Given the description of an element on the screen output the (x, y) to click on. 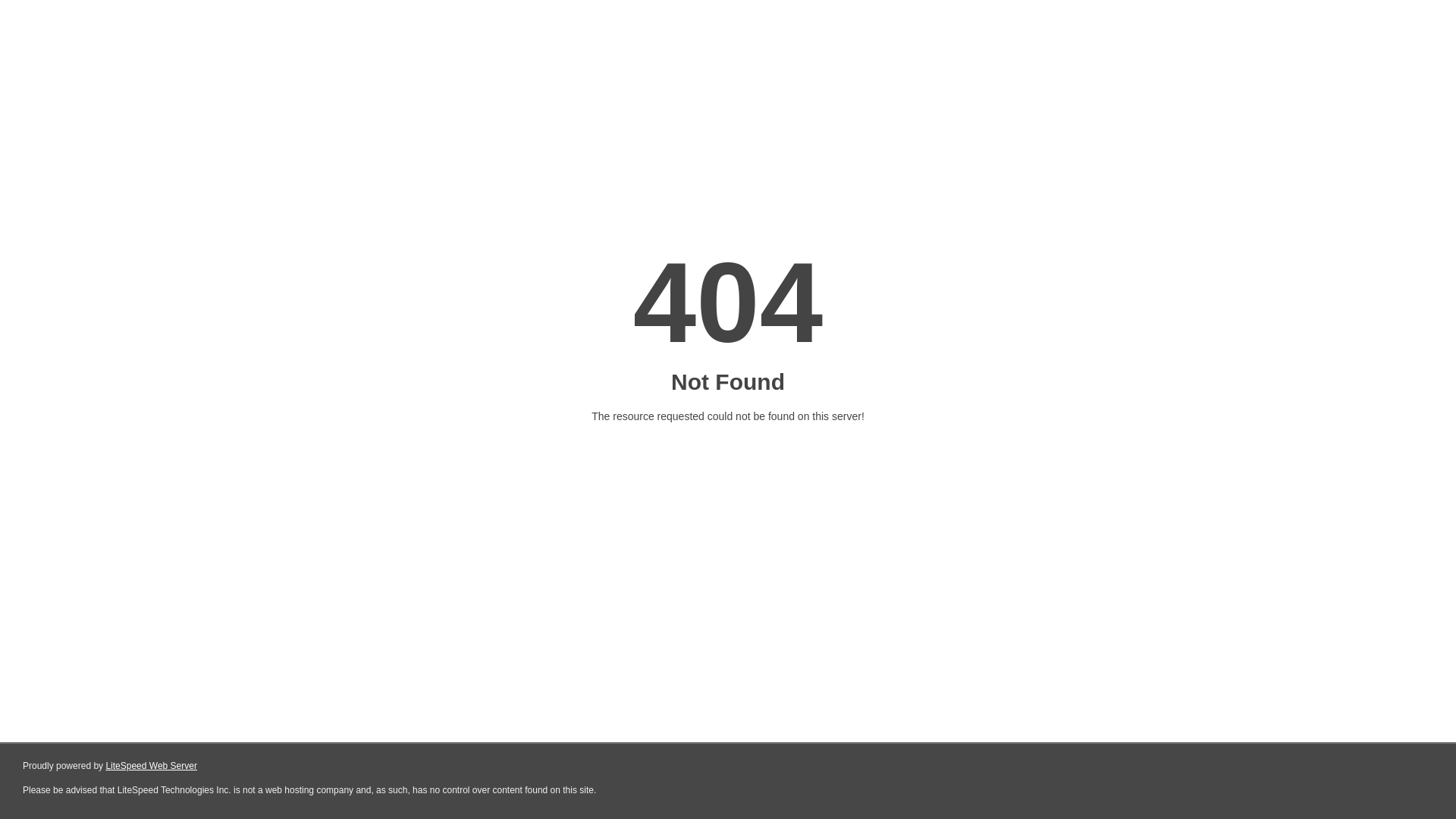
LiteSpeed Web Server Element type: text (151, 765)
